Given the description of an element on the screen output the (x, y) to click on. 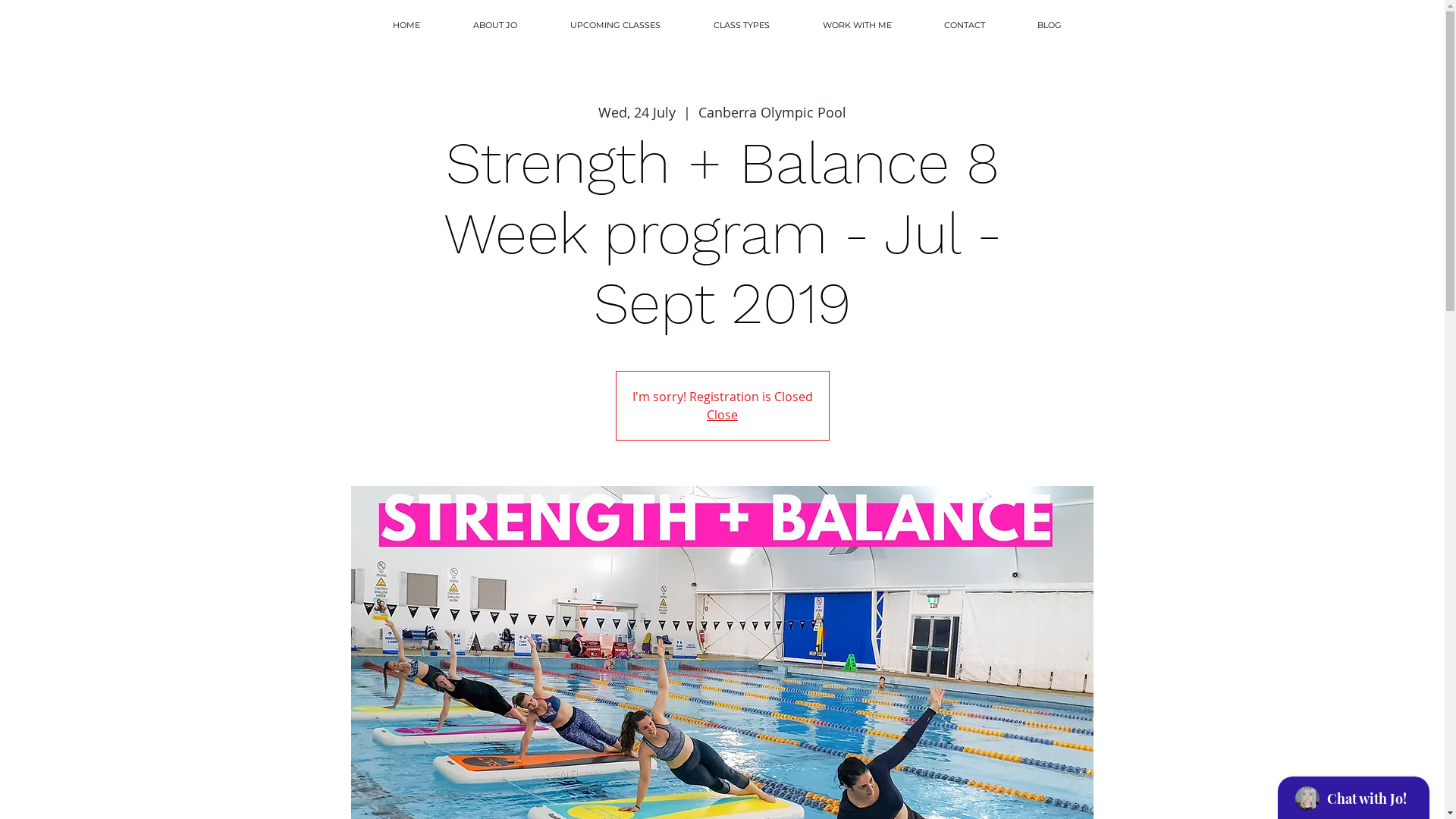
BLOG Element type: text (1034, 24)
CLASS TYPES Element type: text (726, 24)
HOME Element type: text (390, 24)
ABOUT JO Element type: text (478, 24)
Close Element type: text (721, 414)
CONTACT Element type: text (948, 24)
WORK WITH ME Element type: text (842, 24)
UPCOMING CLASSES Element type: text (599, 24)
